Given the description of an element on the screen output the (x, y) to click on. 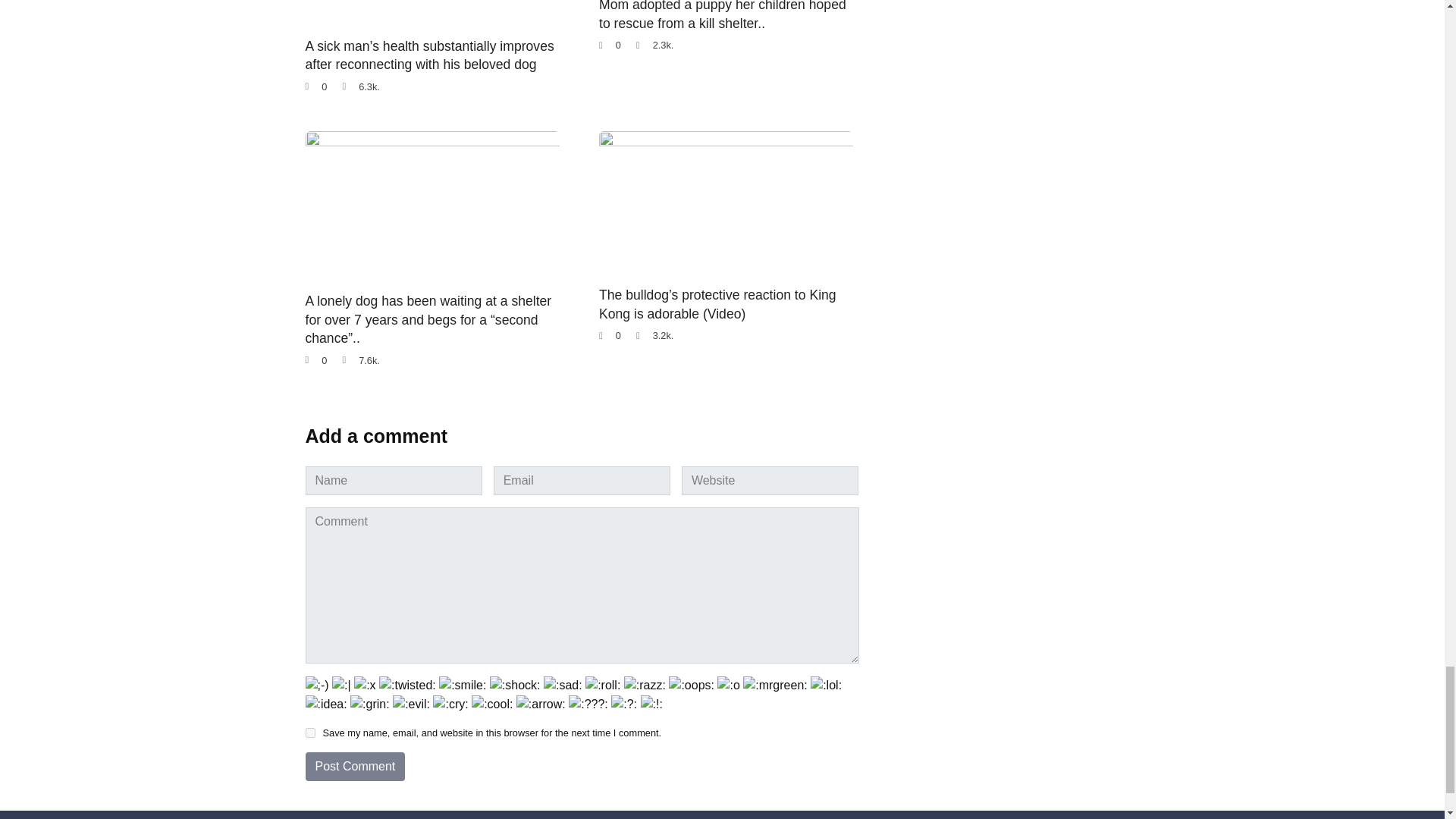
Post Comment (354, 766)
yes (309, 732)
Post Comment (354, 766)
